Given the description of an element on the screen output the (x, y) to click on. 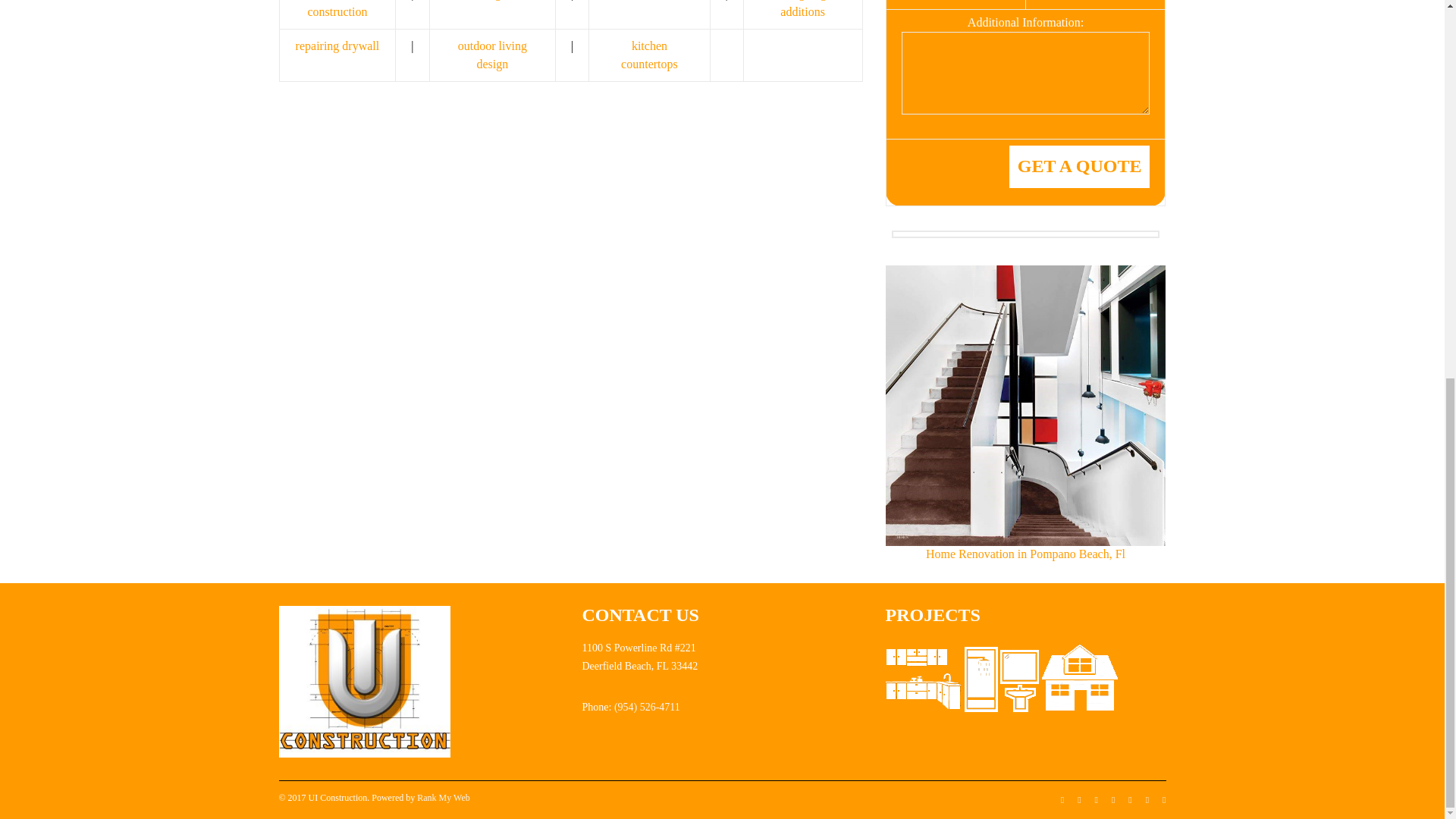
Rank My Web (442, 797)
repairing drywall (337, 45)
GET A QUOTE (1079, 166)
home construction (336, 9)
designing additions (802, 9)
GET A QUOTE (1079, 166)
kitchen countertops (649, 54)
outdoor living design (492, 54)
